Given the description of an element on the screen output the (x, y) to click on. 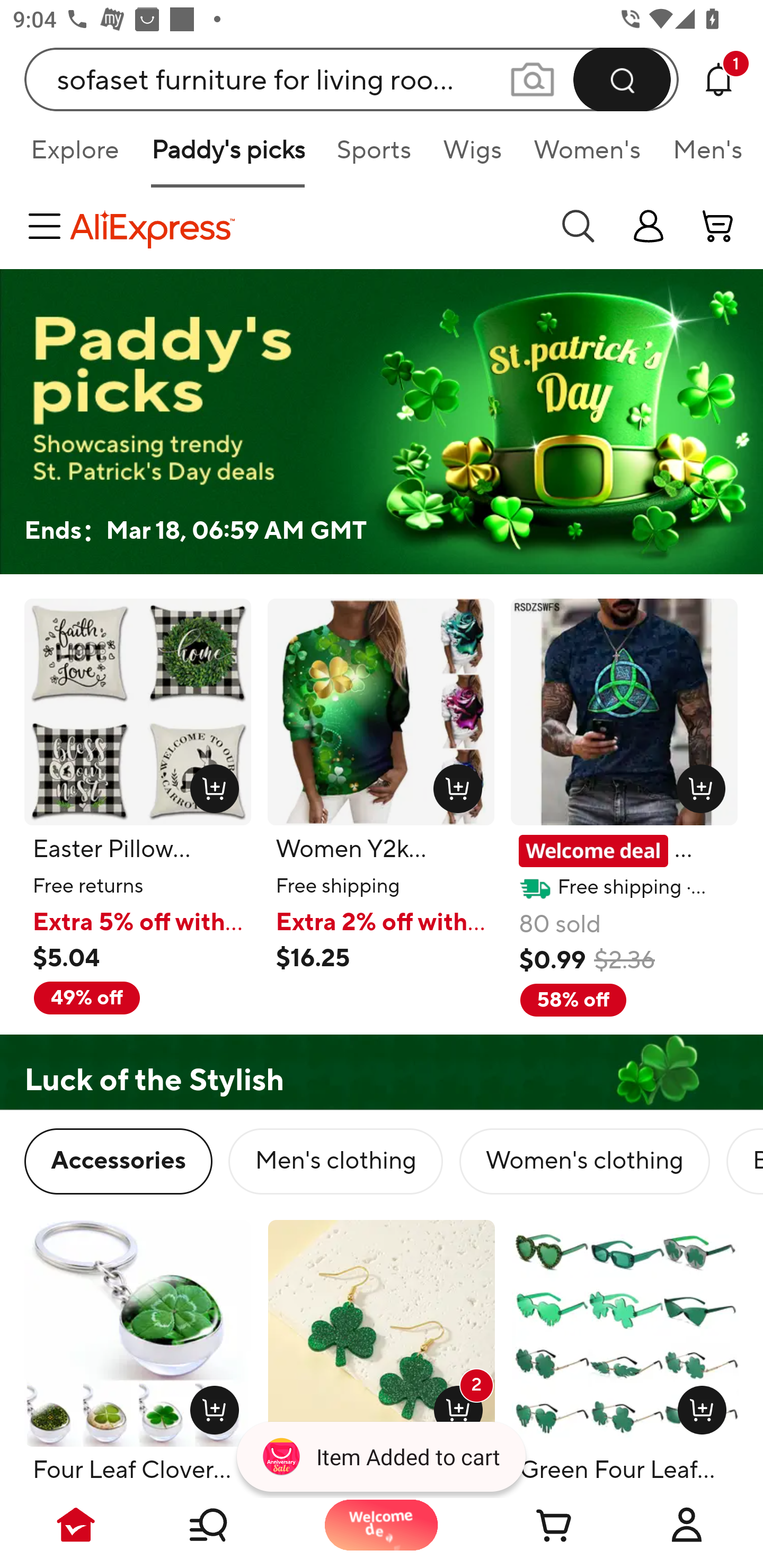
sofaset furniture for living room (351, 79)
Explore (74, 155)
Sports (373, 155)
Wigs (472, 155)
Women's (586, 155)
Men's (701, 155)
aliexpress (305, 225)
category (47, 225)
shop (648, 225)
account (718, 225)
128x128.png_ (210, 784)
128x128.png_ (453, 784)
128x128.png_ (695, 784)
Accessories (117, 1160)
Men's clothing (335, 1160)
Women's clothing (583, 1160)
128x128.png_ (210, 1405)
2 128x128.png_ (454, 1405)
128x128.png_ (697, 1405)
Shop (228, 1524)
Cart (533, 1524)
Account (686, 1524)
